Given the description of an element on the screen output the (x, y) to click on. 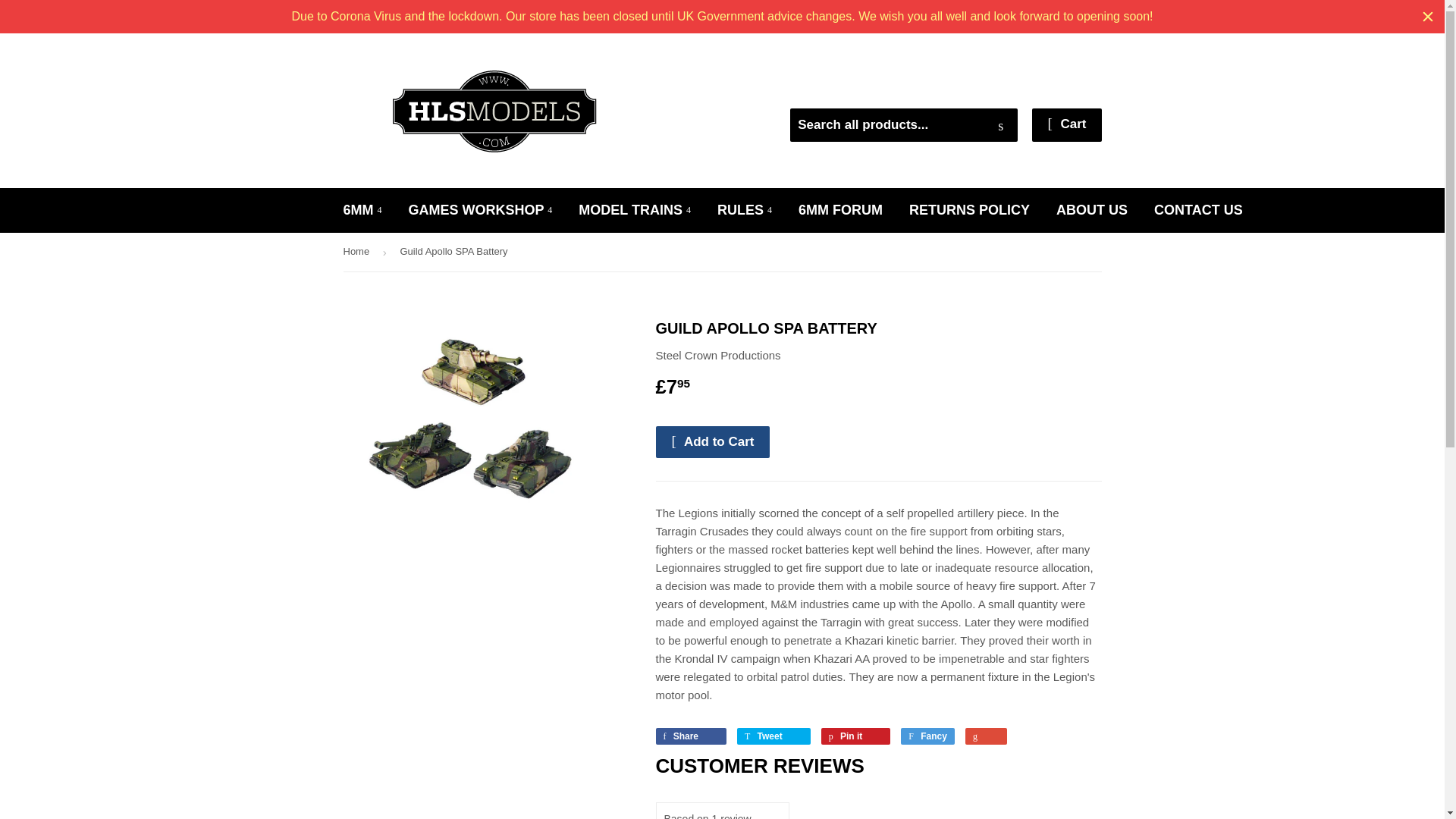
Pin it (855, 736)
6MM (362, 210)
Search (1000, 125)
MODEL TRAINS (634, 210)
CONTACT US (1197, 210)
ABOUT US (1091, 210)
RETURNS POLICY (969, 210)
Cart (1066, 124)
Add to Cart (712, 441)
Create an Account (1058, 89)
Share (690, 736)
6MM FORUM (840, 210)
Tweet (773, 736)
Fancy (928, 736)
GAMES WORKSHOP (480, 210)
